Given the description of an element on the screen output the (x, y) to click on. 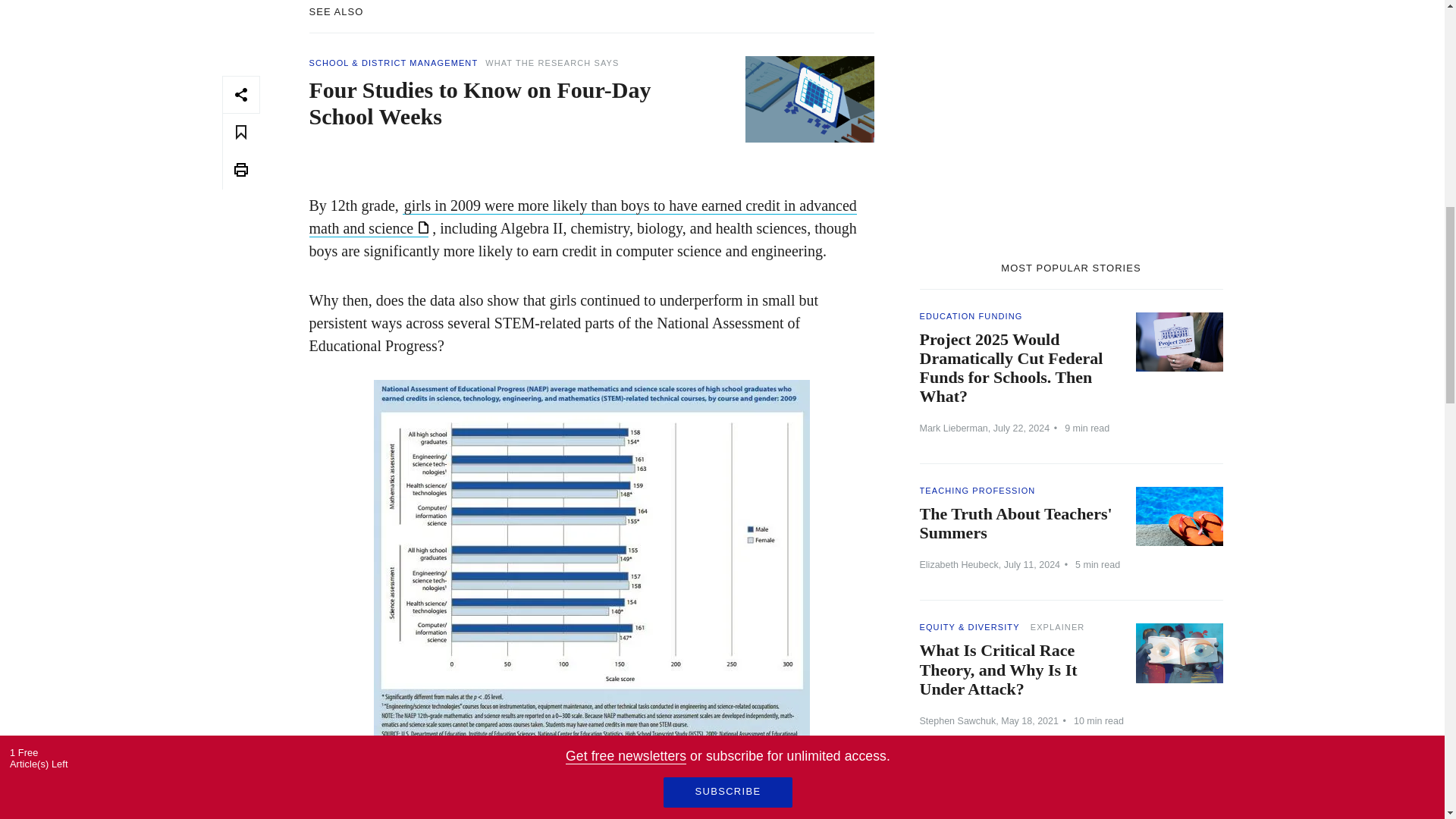
3rd party ad content (1070, 116)
